Given the description of an element on the screen output the (x, y) to click on. 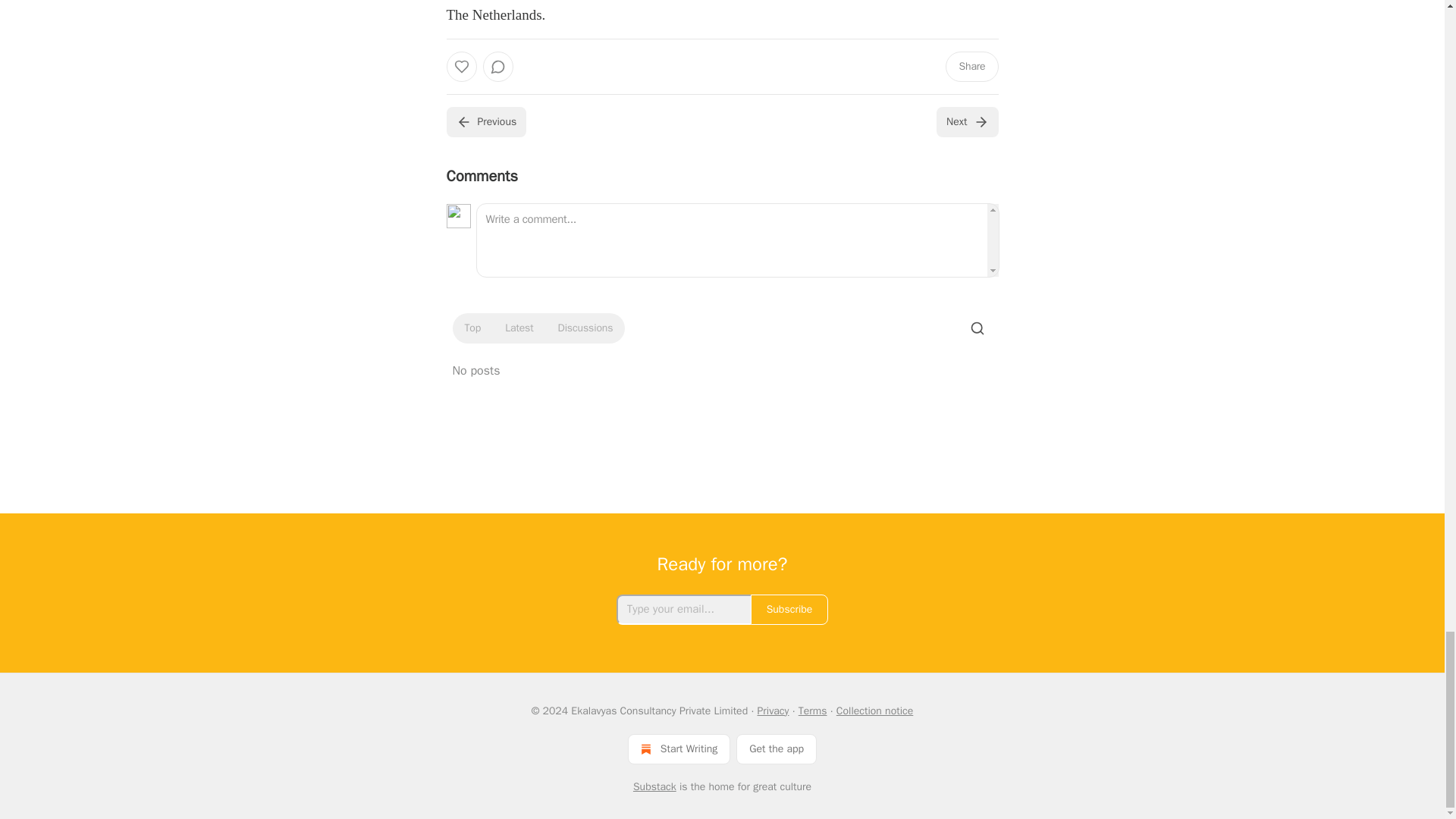
Top (471, 328)
Latest (518, 328)
Share (970, 66)
Discussions (585, 328)
Next (966, 122)
Previous (485, 122)
